Given the description of an element on the screen output the (x, y) to click on. 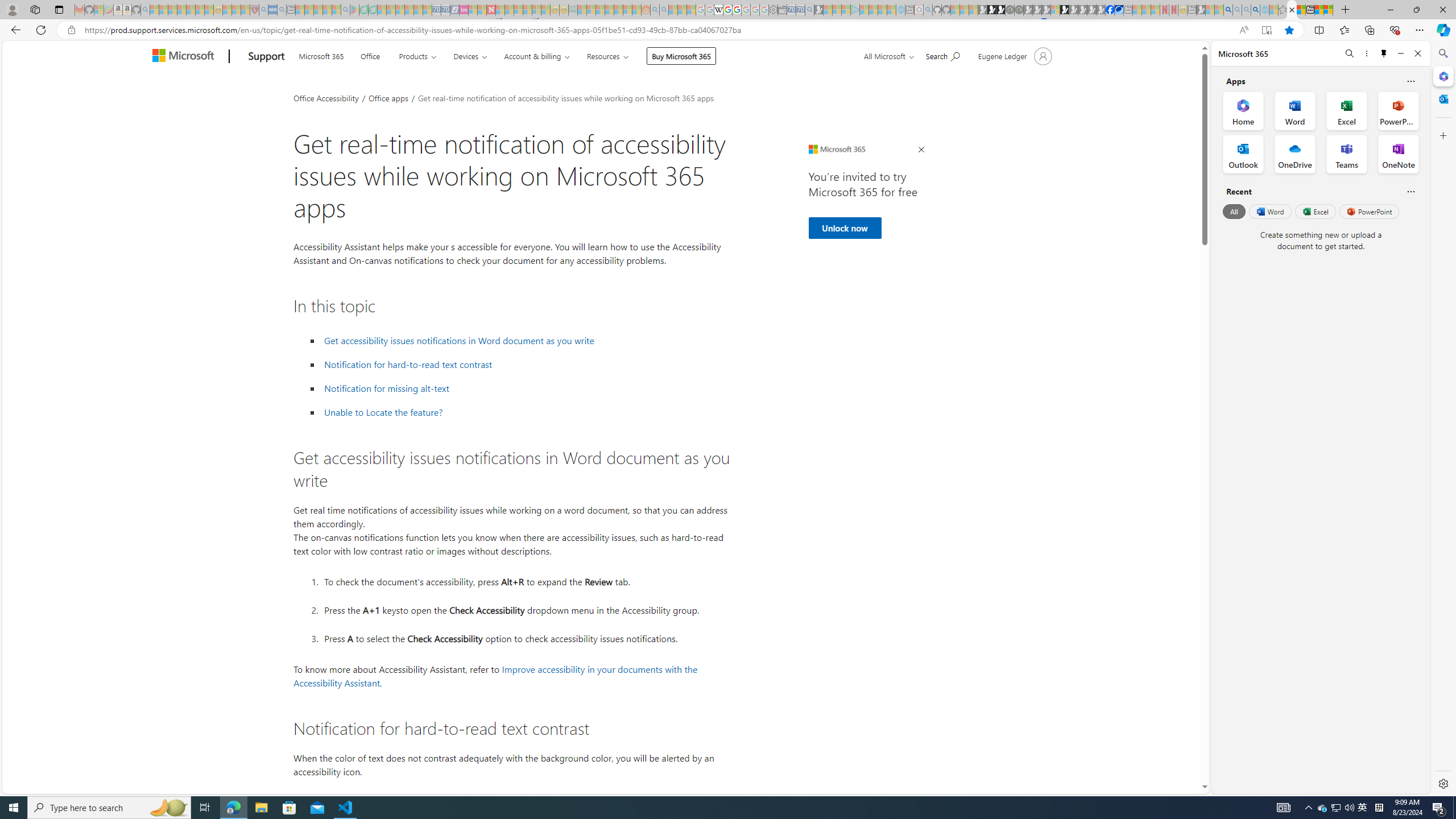
Google Chrome Internet Browser Download - Search Images (1255, 9)
Office apps  (389, 97)
